Given the description of an element on the screen output the (x, y) to click on. 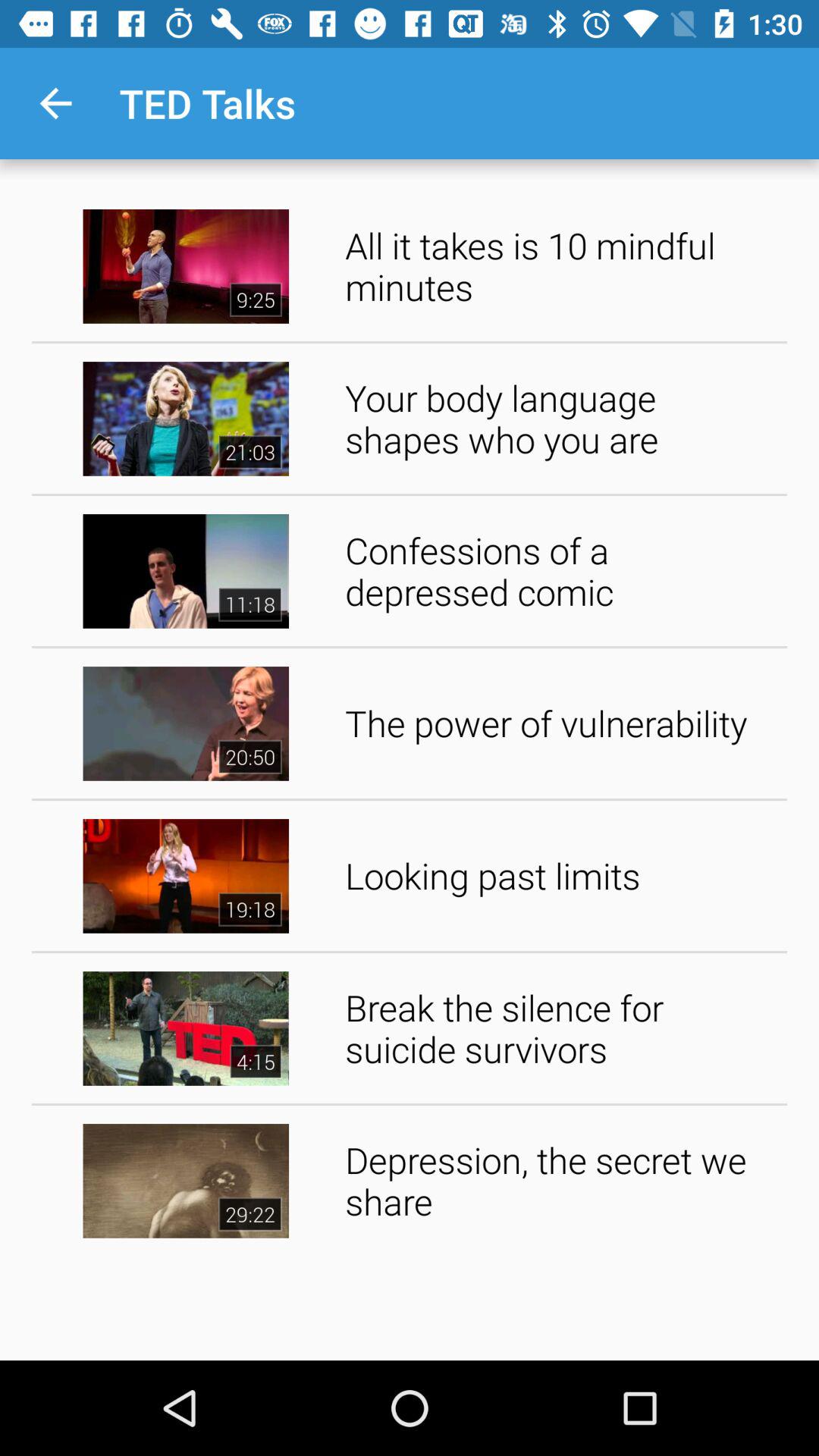
select the confessions of a app (560, 570)
